Given the description of an element on the screen output the (x, y) to click on. 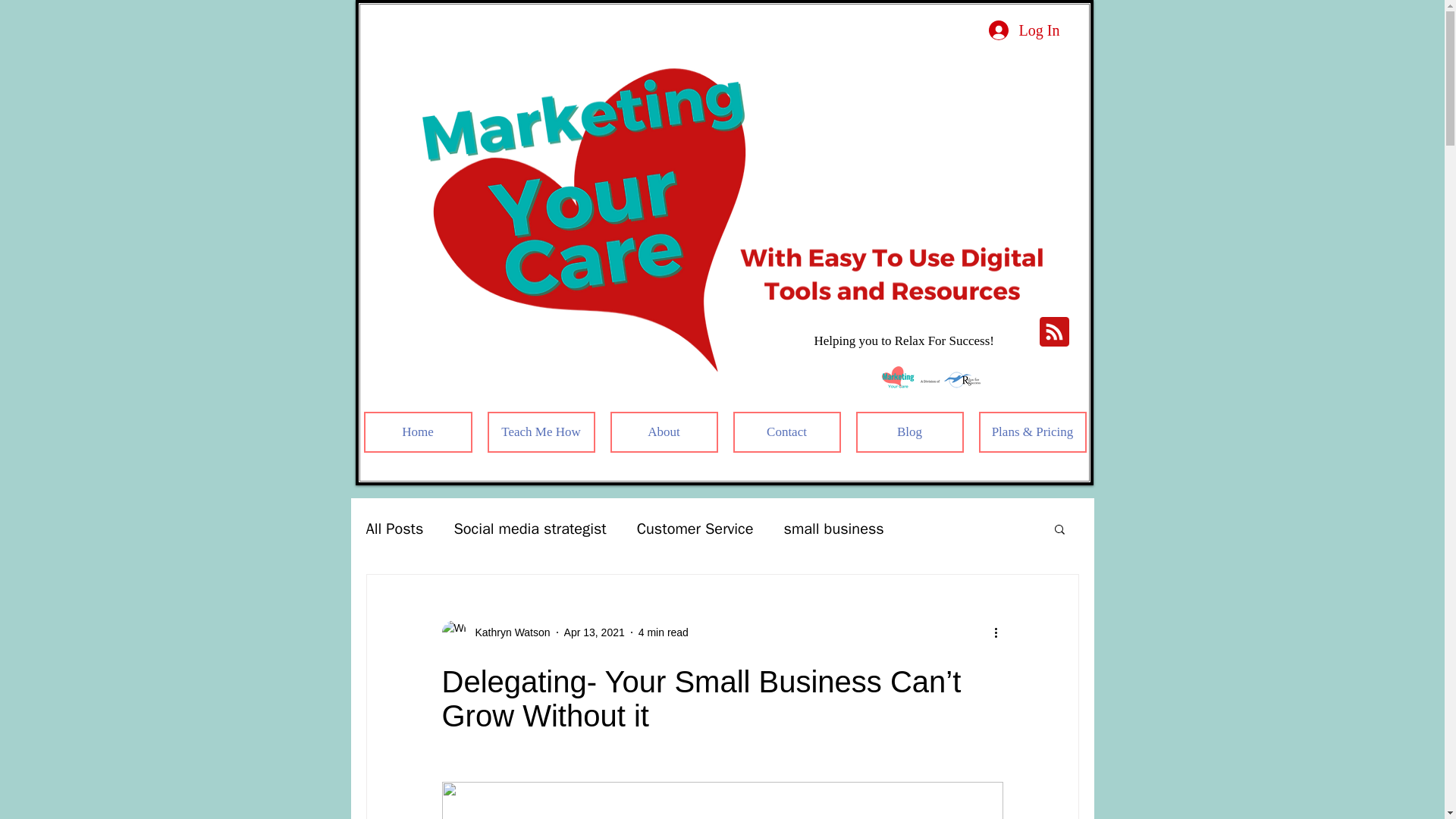
Social media strategist (528, 528)
Teach Me How (540, 431)
Apr 13, 2021 (594, 632)
small business (833, 528)
Blog (909, 431)
Customer Service (695, 528)
Log In (1023, 29)
Contact (786, 431)
All Posts (394, 528)
Kathryn Watson (507, 632)
Home (417, 431)
Kathryn Watson (495, 631)
4 min read (663, 632)
About (663, 431)
